Given the description of an element on the screen output the (x, y) to click on. 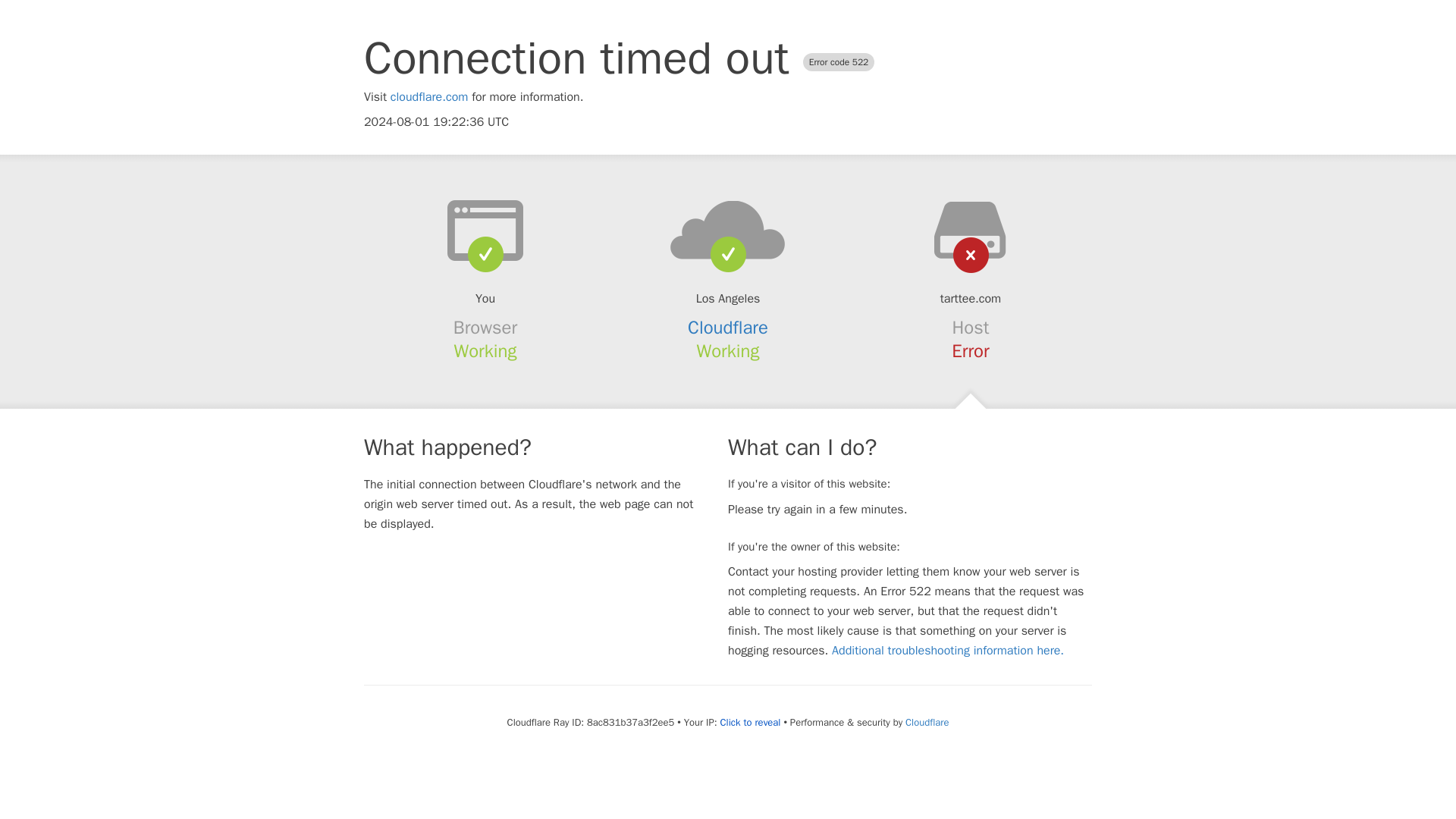
cloudflare.com (429, 96)
Click to reveal (750, 722)
Additional troubleshooting information here. (947, 650)
Cloudflare (727, 327)
Cloudflare (927, 721)
